Given the description of an element on the screen output the (x, y) to click on. 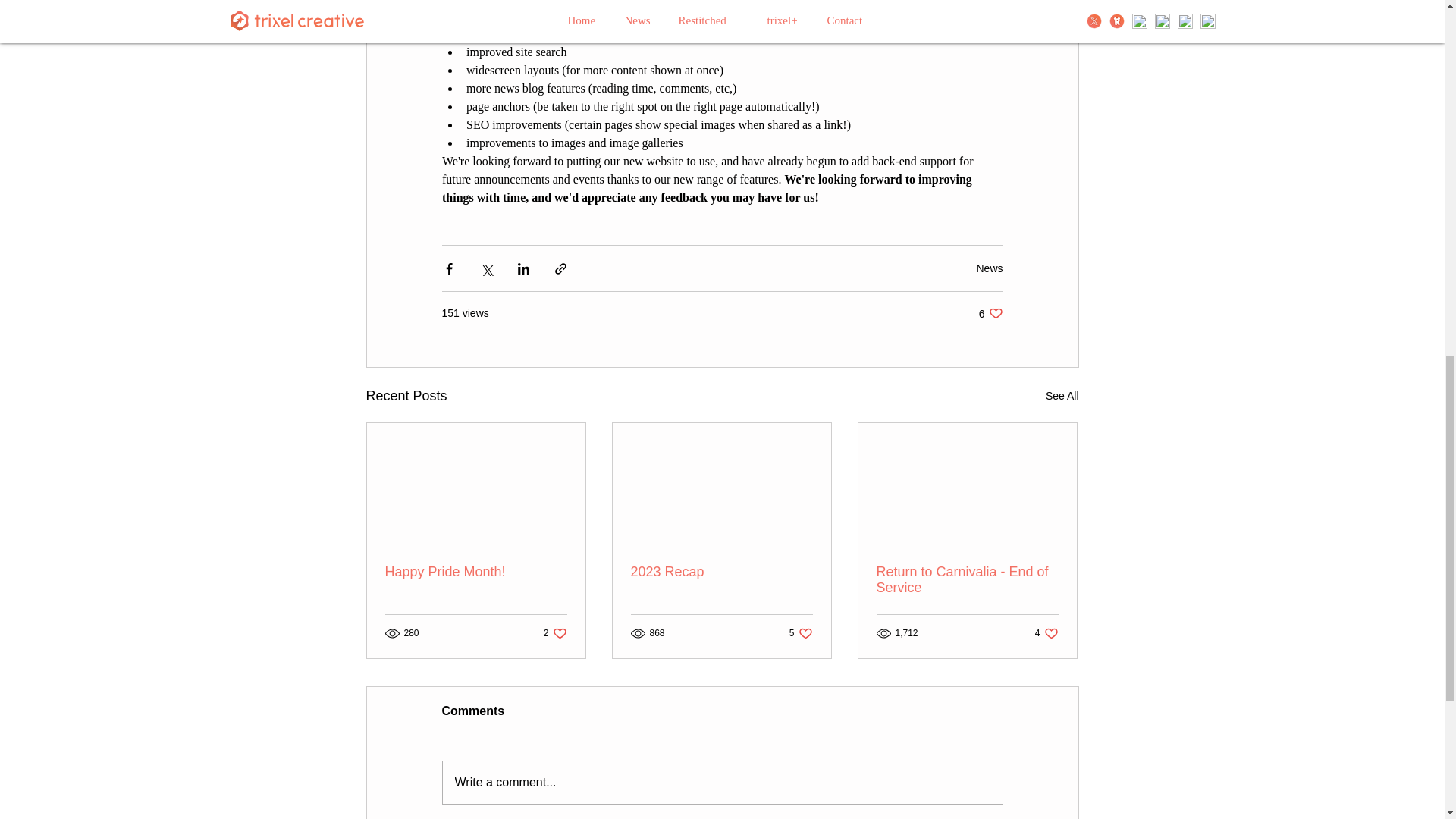
See All (555, 633)
Happy Pride Month! (800, 633)
2023 Recap (1061, 395)
News (476, 571)
